Given the description of an element on the screen output the (x, y) to click on. 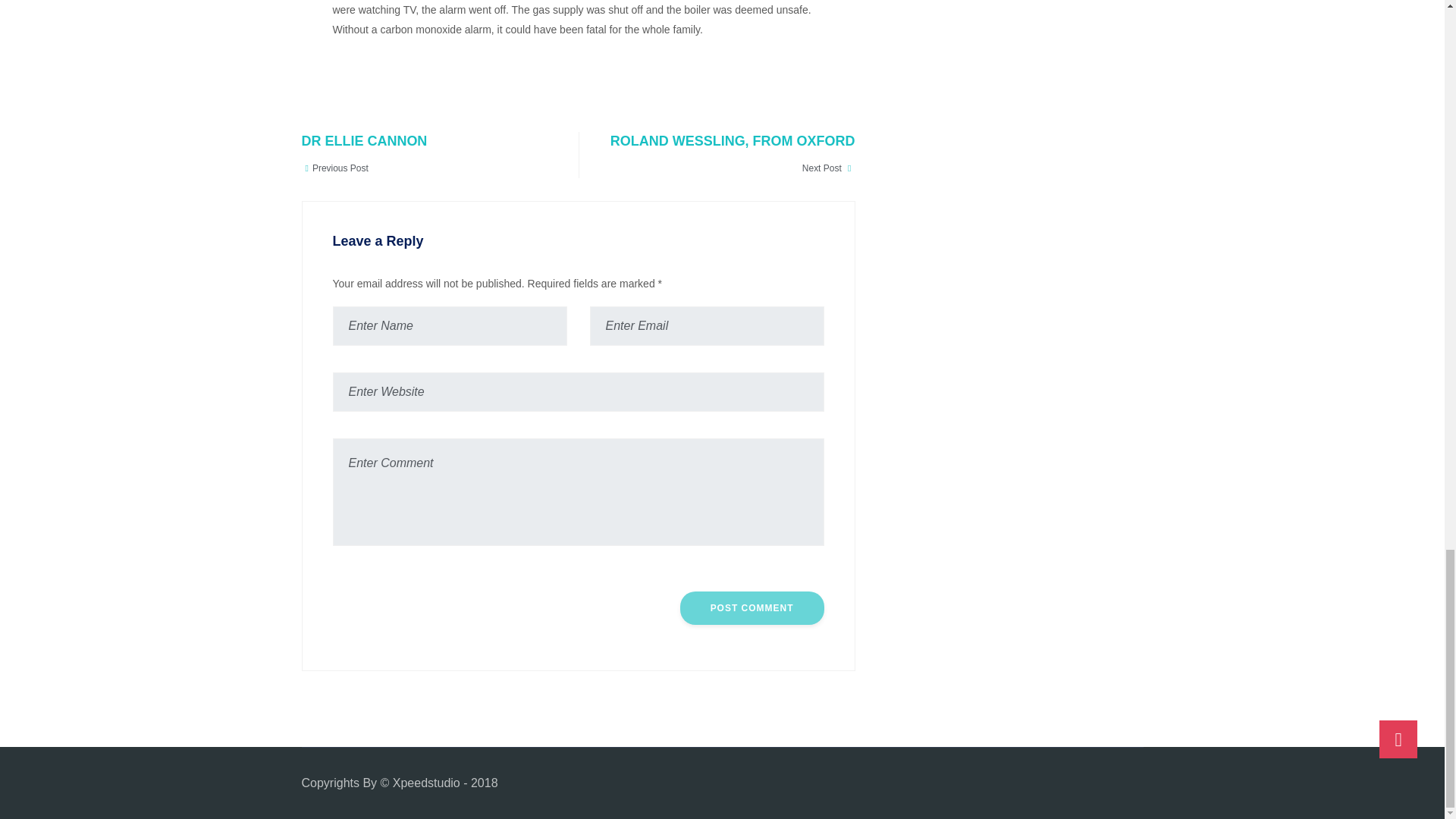
Post Comment (751, 607)
Post Comment (424, 154)
